Given the description of an element on the screen output the (x, y) to click on. 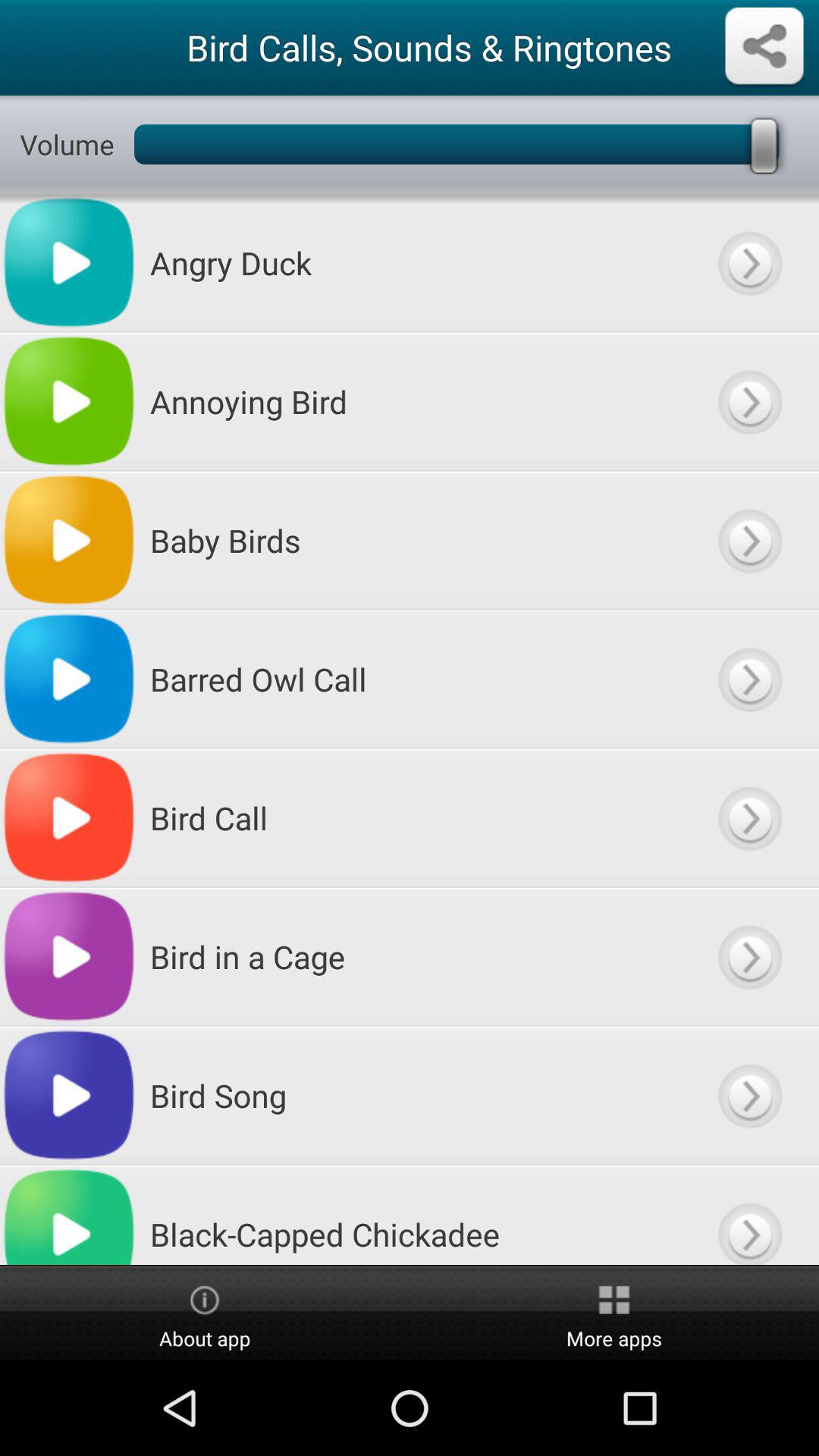
select sound (749, 1095)
